Given the description of an element on the screen output the (x, y) to click on. 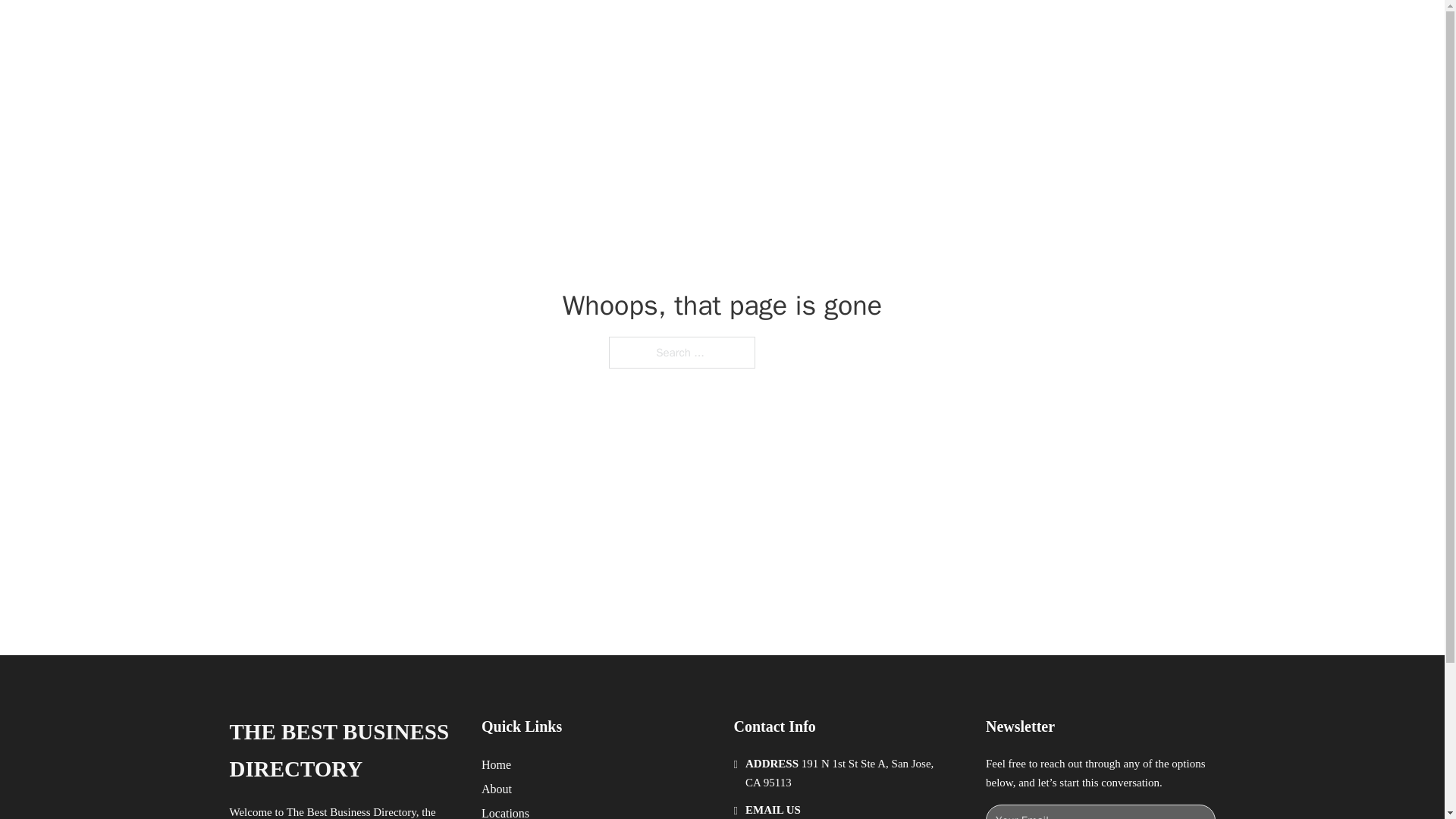
HOME (919, 29)
Locations (505, 811)
Home (496, 764)
THE BEST BUSINESS DIRECTORY (343, 750)
LOCATIONS (990, 29)
THE BEST BUSINESS DIRECTORY (468, 28)
About (496, 788)
